Given the description of an element on the screen output the (x, y) to click on. 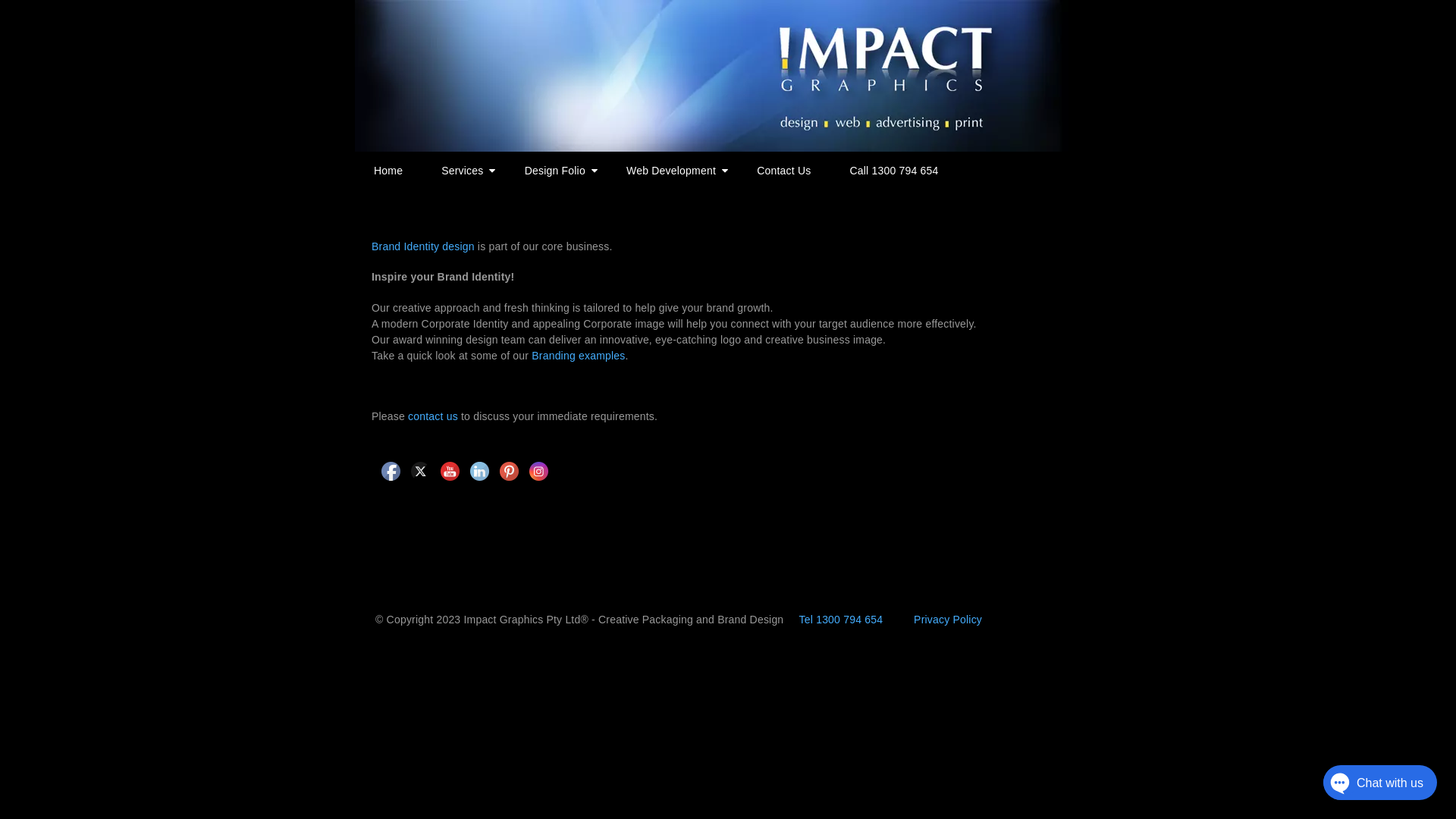
Facebook Element type: hover (390, 470)
Instagram Element type: hover (538, 470)
YouTube Element type: hover (449, 470)
contact us Element type: text (432, 416)
Sydney Packaging and Brand Design Agency  l  Impact Graphics Element type: hover (711, 75)
Home Element type: text (387, 170)
Call 1300 794 654 Element type: text (893, 170)
Twitter Element type: hover (420, 470)
Web Development Element type: text (672, 170)
Privacy Policy Element type: text (947, 619)
Contact Us Element type: text (783, 170)
Branding examples Element type: text (577, 355)
Design Folio Element type: text (555, 170)
Brand Identity design Element type: text (422, 246)
LinkedIn Element type: hover (479, 470)
Services Element type: text (463, 170)
Tel 1300 794 654 Element type: text (841, 619)
Pinterest Element type: hover (508, 470)
